Given the description of an element on the screen output the (x, y) to click on. 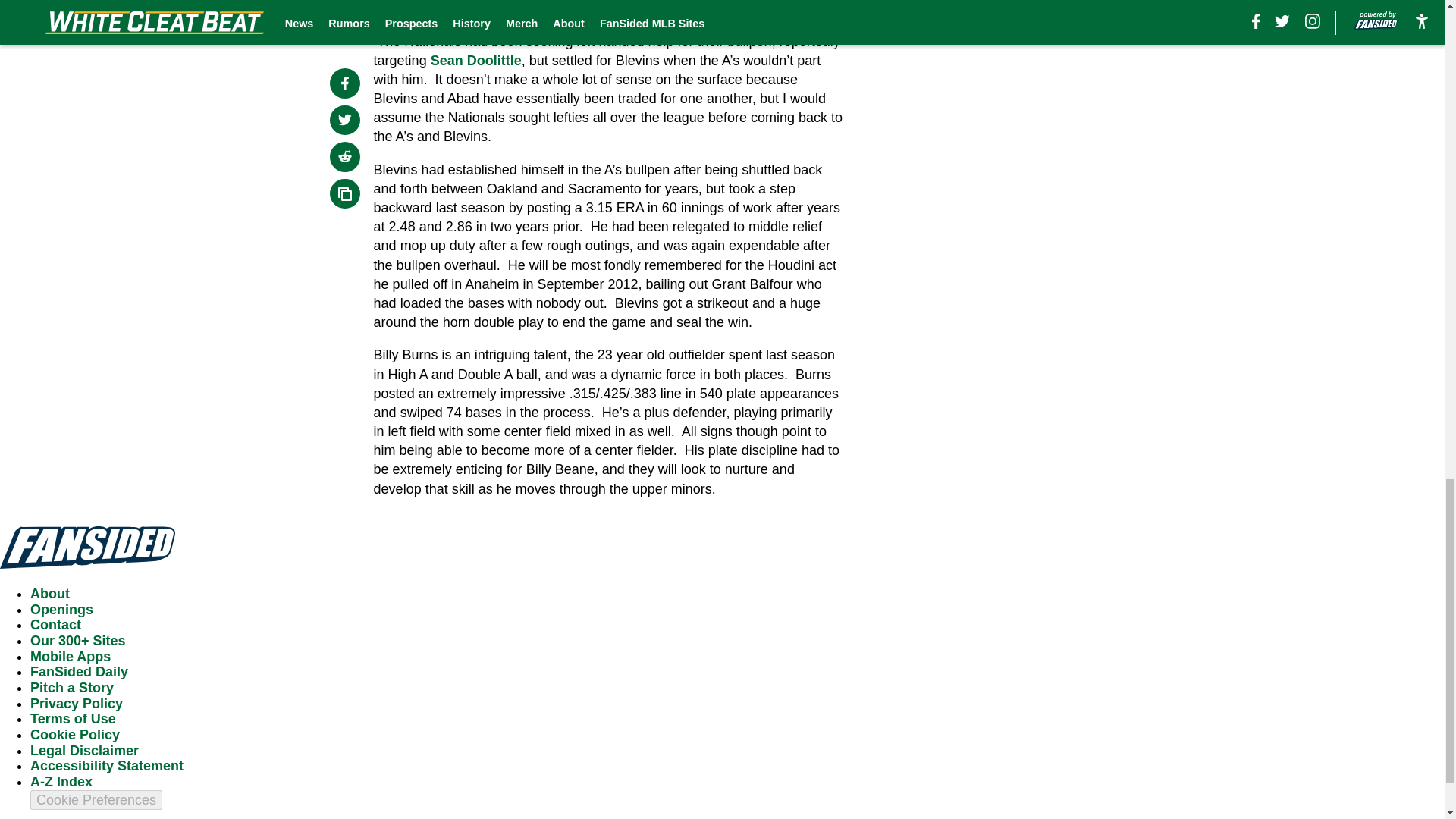
About (49, 593)
Openings (61, 609)
Contact (55, 624)
Sean Doolittle (475, 60)
Fernando Abad (575, 5)
